Given the description of an element on the screen output the (x, y) to click on. 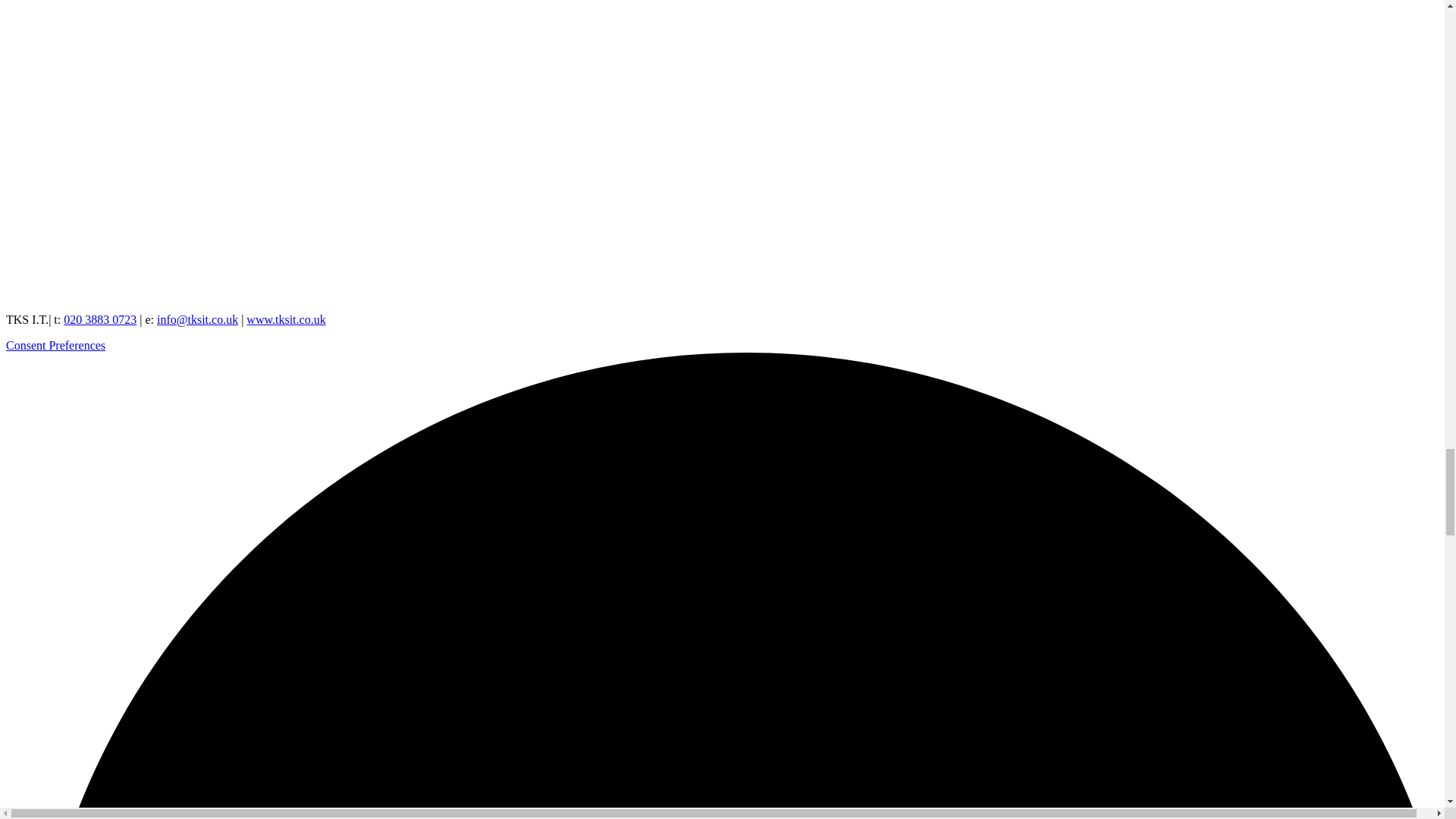
Consent Preferences (54, 345)
020 3883 0723 (100, 318)
www.tksit.co.uk (285, 318)
